Given the description of an element on the screen output the (x, y) to click on. 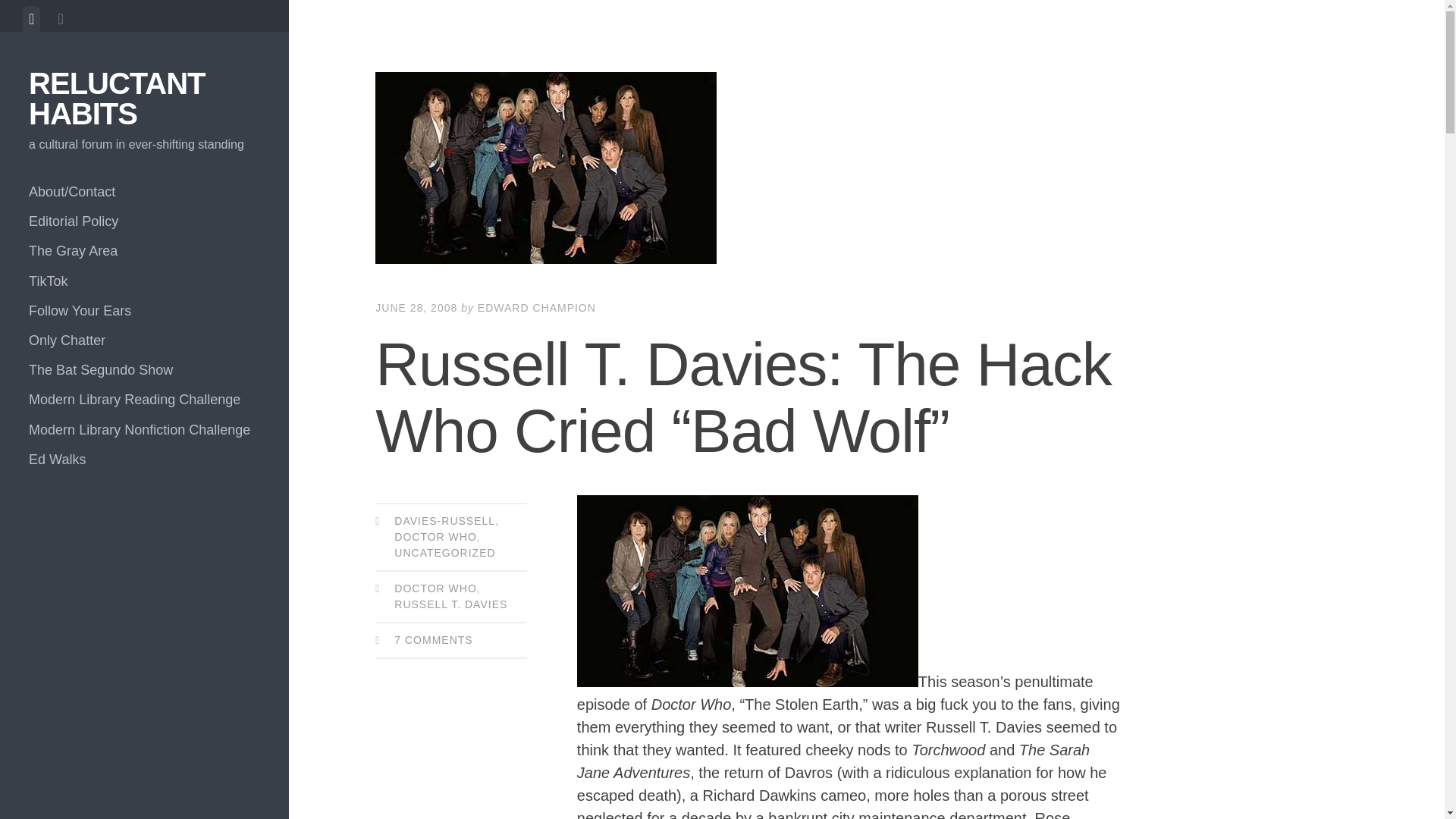
The Bat Segundo Show (144, 369)
stolenearth (747, 591)
RELUCTANT HABITS (117, 98)
Follow Your Ears (144, 310)
The Gray Area (144, 251)
Only Chatter (144, 340)
Modern Library Reading Challenge (144, 399)
TikTok (144, 281)
Ed Walks (144, 460)
Editorial Policy (144, 221)
Modern Library Nonfiction Challenge (144, 430)
